Given the description of an element on the screen output the (x, y) to click on. 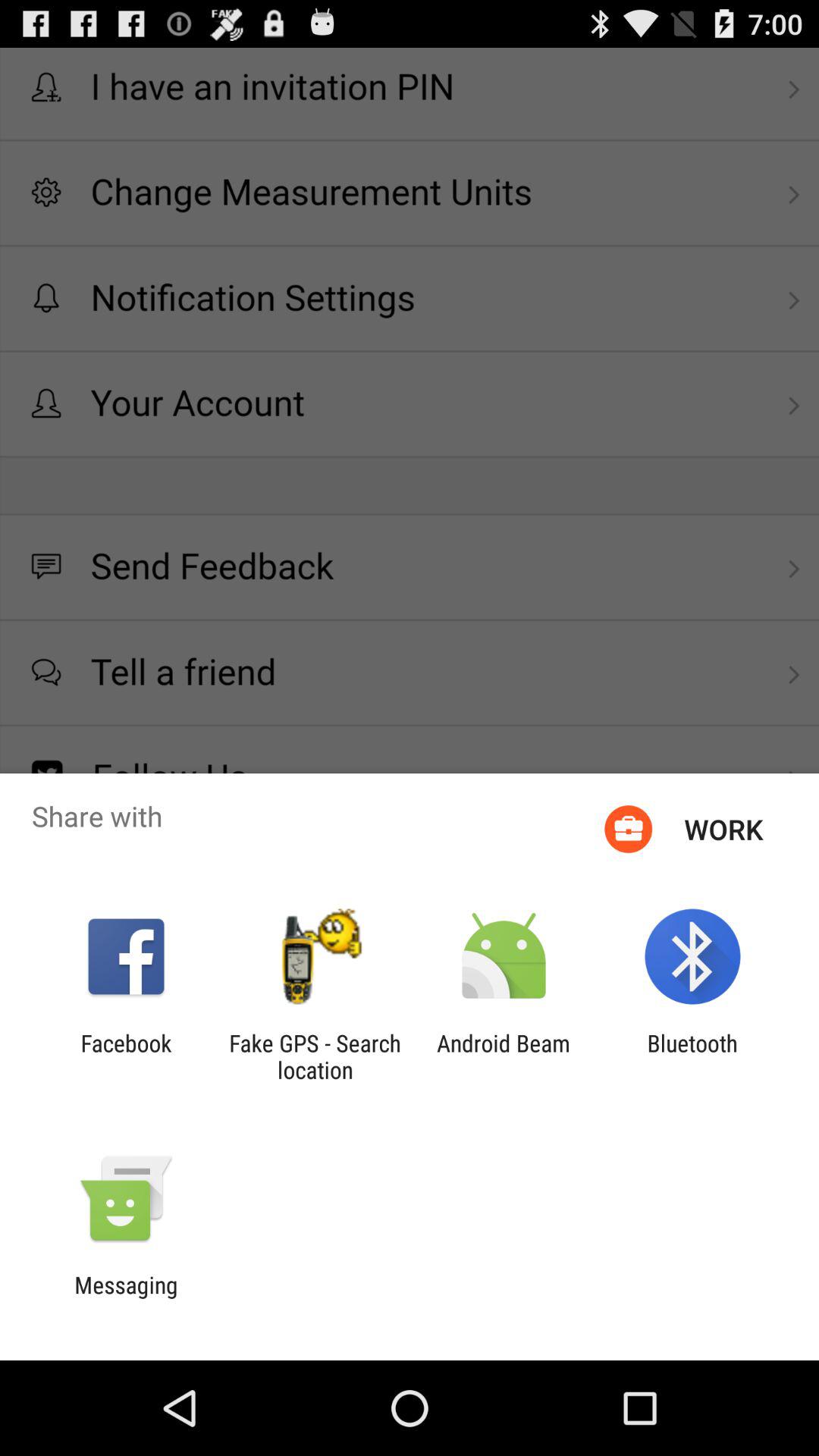
jump to the facebook icon (125, 1056)
